Given the description of an element on the screen output the (x, y) to click on. 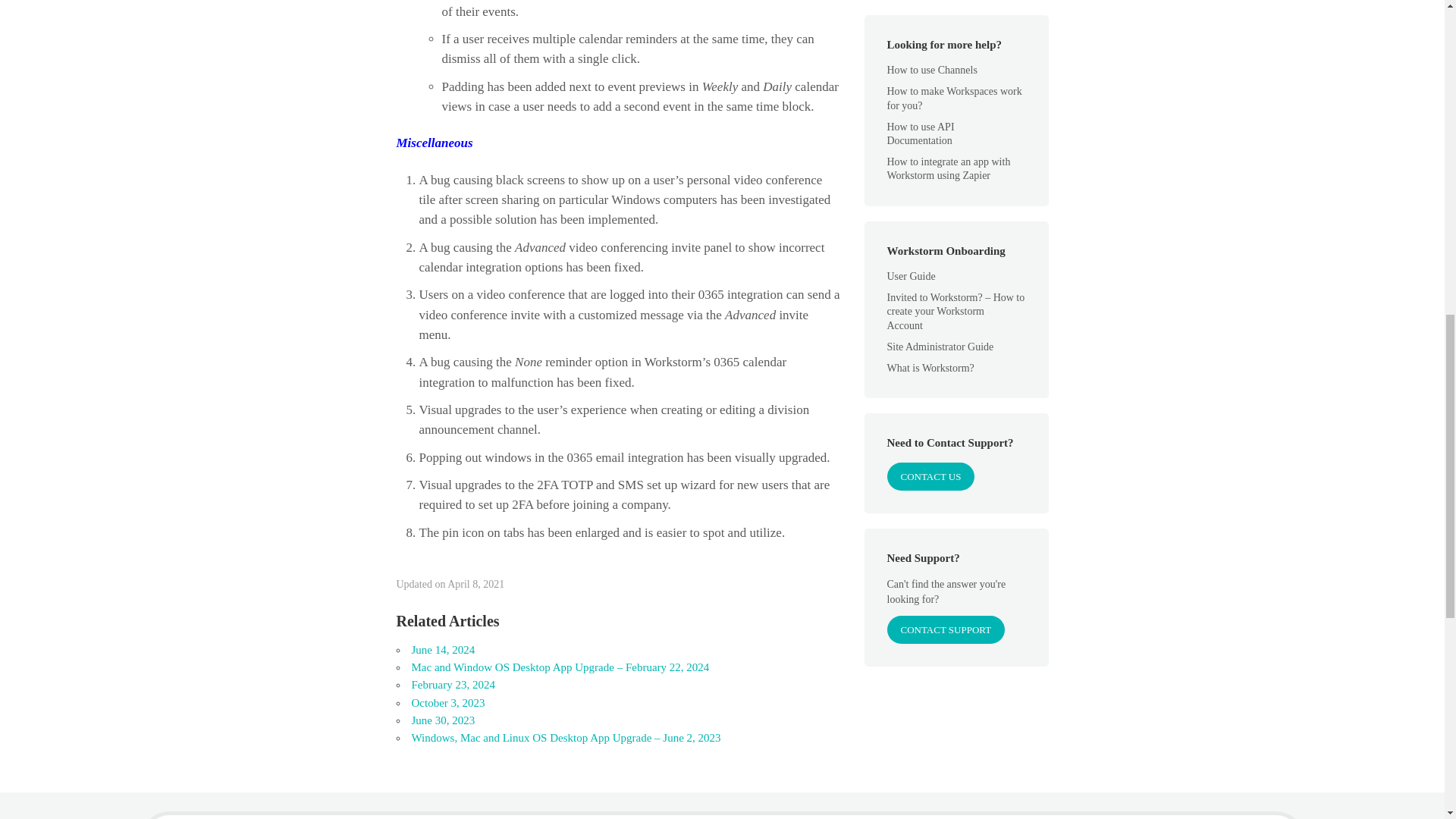
June 30, 2023 (442, 720)
June 14, 2024 (442, 649)
February 23, 2024 (452, 684)
October 3, 2023 (447, 702)
